Given the description of an element on the screen output the (x, y) to click on. 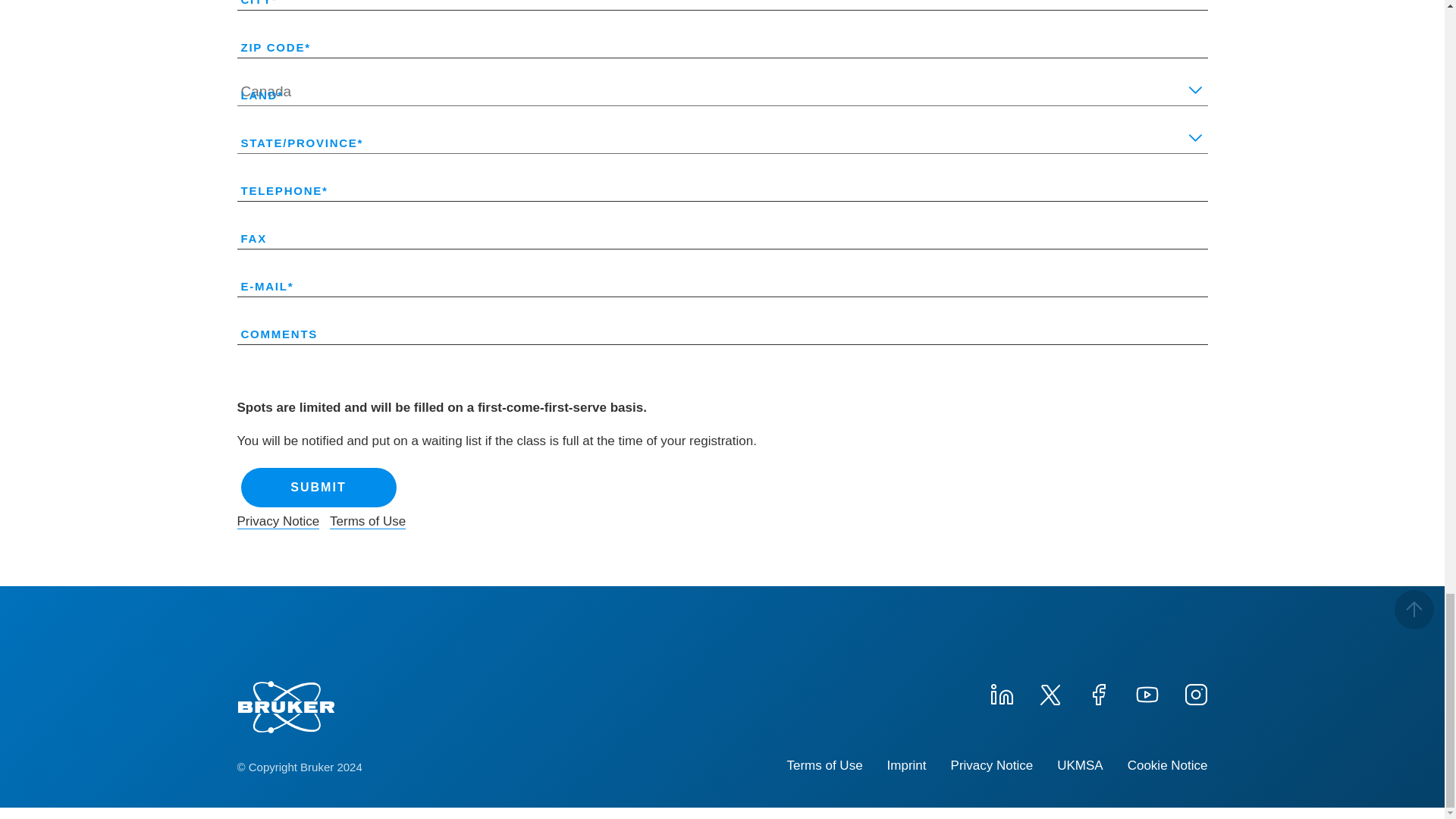
facebook (1097, 692)
Terms of Use (368, 521)
twitter (1048, 692)
linkedin (1000, 692)
Privacy Notice (276, 521)
youtube (1146, 692)
instagram (1194, 692)
SUBMIT (318, 486)
